Given the description of an element on the screen output the (x, y) to click on. 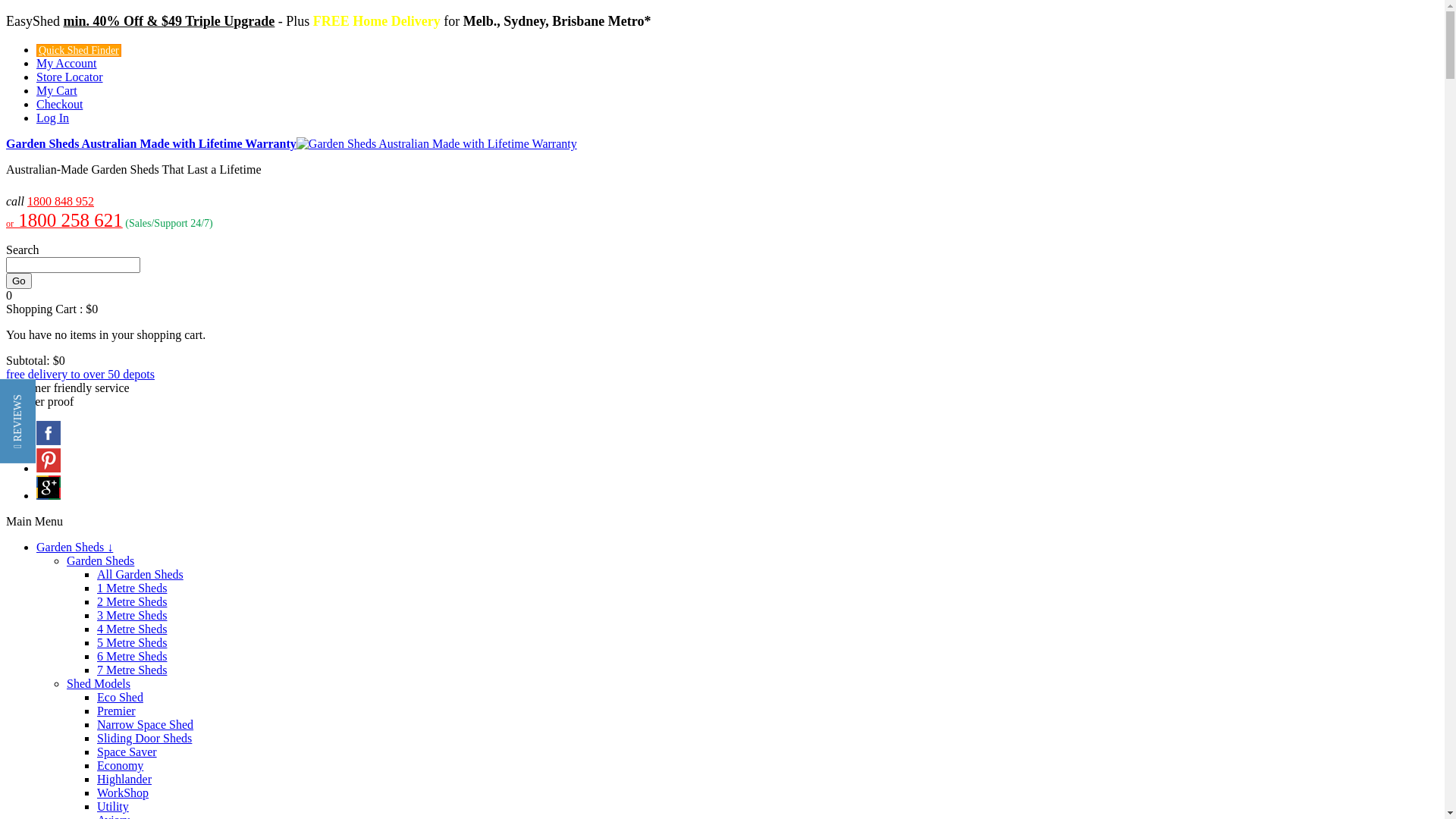
4 Metre Sheds Element type: text (131, 628)
Garden Sheds Australian Made with Lifetime Warranty Element type: text (291, 143)
Store Locator Element type: text (69, 76)
Go Element type: text (18, 280)
1800 848 952
or 1800 258 621 Element type: text (64, 211)
Garden Sheds Element type: text (100, 560)
Quick Shed Finder Element type: text (78, 49)
Google+ Element type: hover (48, 495)
Shed Models Element type: text (98, 683)
Checkout Element type: text (59, 103)
My Account Element type: text (66, 62)
Facebook - Garden Shed Element type: hover (48, 440)
Utility Element type: text (112, 806)
1 Metre Sheds Element type: text (131, 587)
WorkShop Element type: text (122, 792)
Highlander Element type: text (124, 778)
5 Metre Sheds Element type: text (131, 642)
free delivery to over 50 depots Element type: text (80, 373)
Premier Element type: text (116, 710)
3 Metre Sheds Element type: text (131, 614)
2 Metre Sheds Element type: text (131, 601)
Eco Shed Element type: text (120, 696)
Space Saver Element type: text (126, 751)
Pinterest Element type: hover (48, 467)
6 Metre Sheds Element type: text (131, 655)
Economy Element type: text (120, 765)
Sliding Door Sheds Element type: text (144, 737)
Log In Element type: text (52, 117)
7 Metre Sheds Element type: text (131, 669)
My Cart Element type: text (56, 90)
All Garden Sheds Element type: text (140, 573)
Narrow Space Shed Element type: text (145, 724)
